Given the description of an element on the screen output the (x, y) to click on. 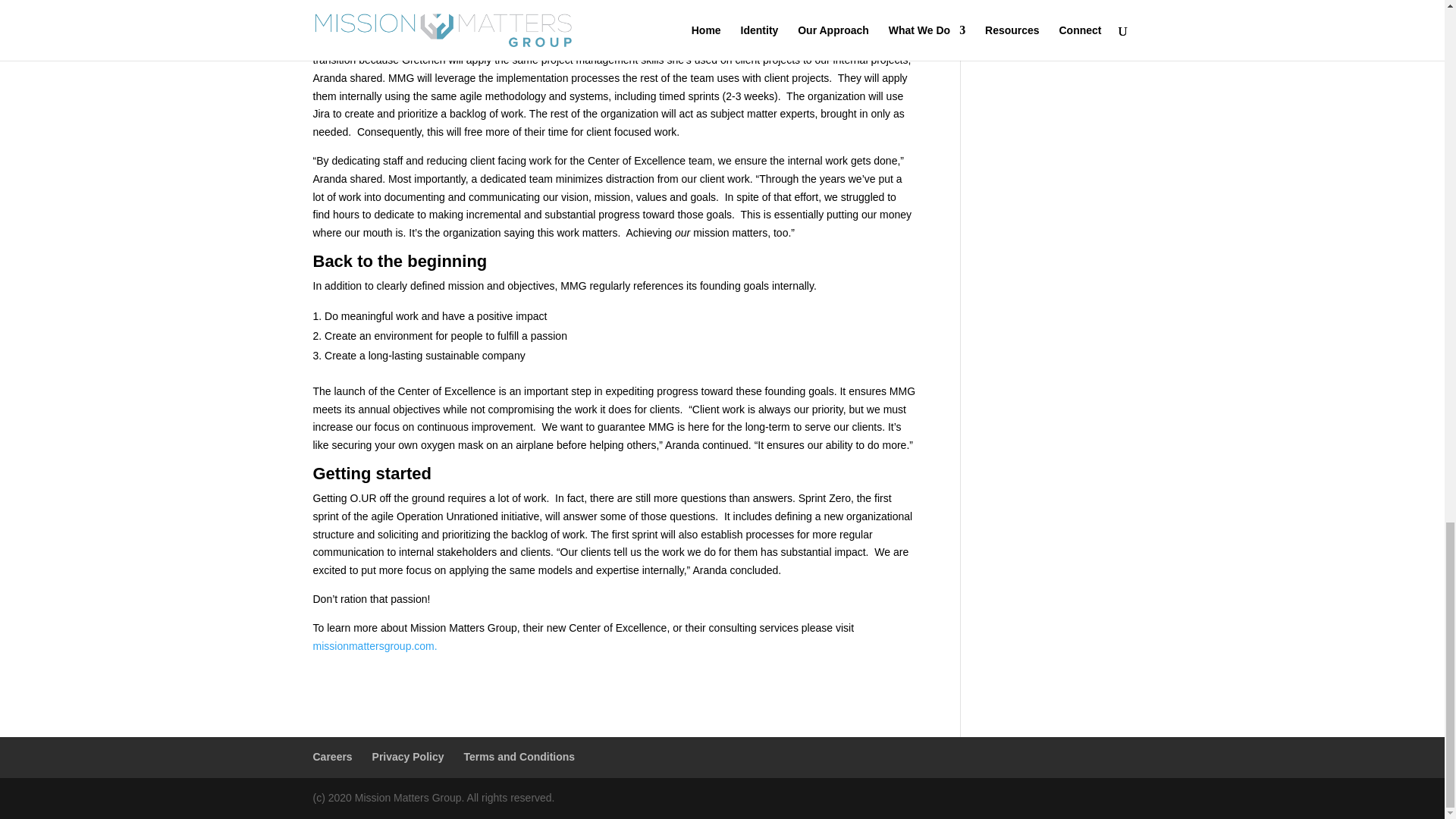
Gretchen Pettet (572, 41)
missionmattersgroup.com. (374, 645)
